Given the description of an element on the screen output the (x, y) to click on. 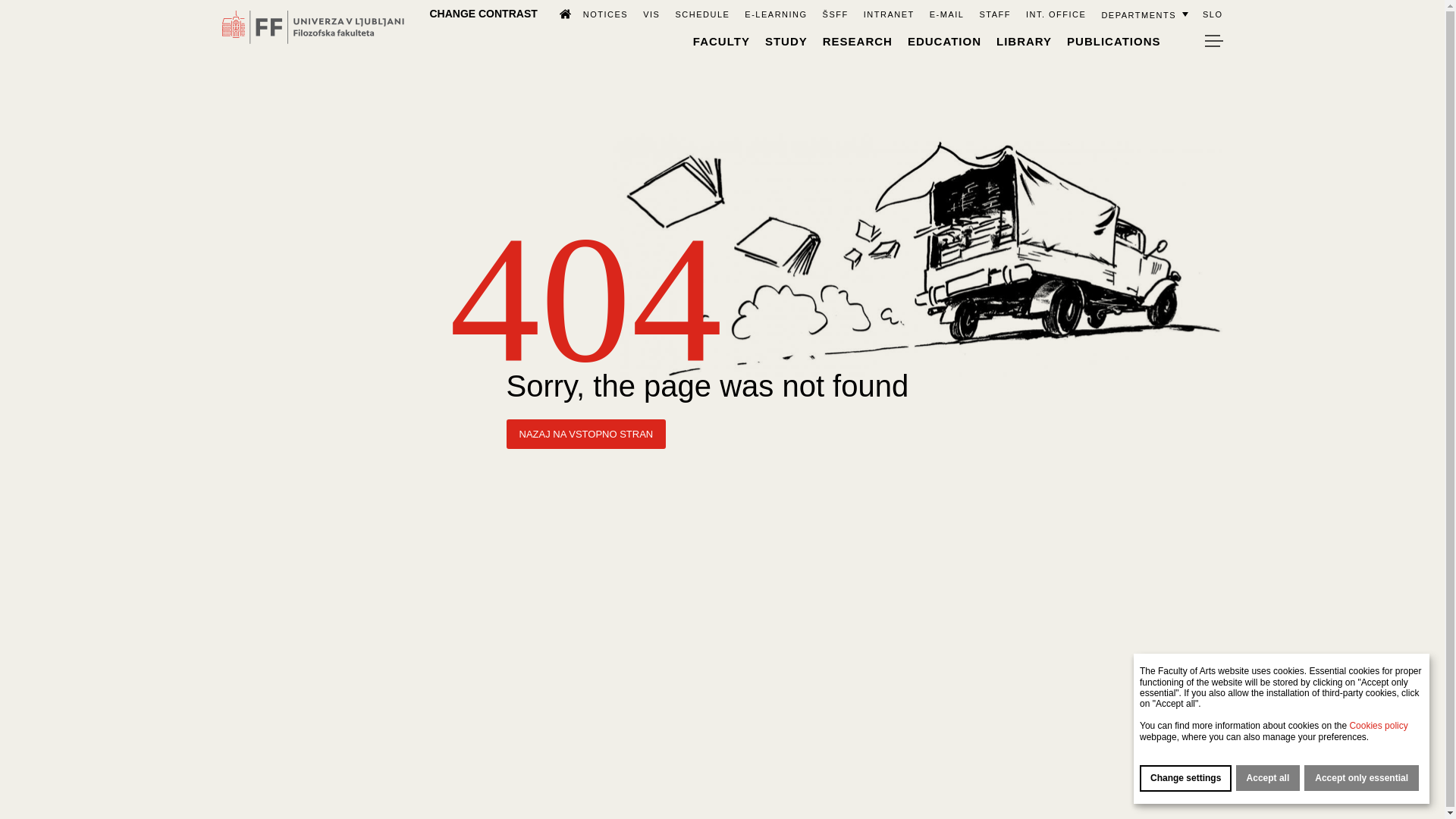
Zaposleni (994, 13)
RESEARCH (857, 41)
INTRANET (888, 13)
E-LEARNING (775, 13)
E-MAIL (946, 13)
International Office (1056, 13)
INT. OFFICE (1056, 13)
Home (558, 13)
VIS (651, 13)
